Given the description of an element on the screen output the (x, y) to click on. 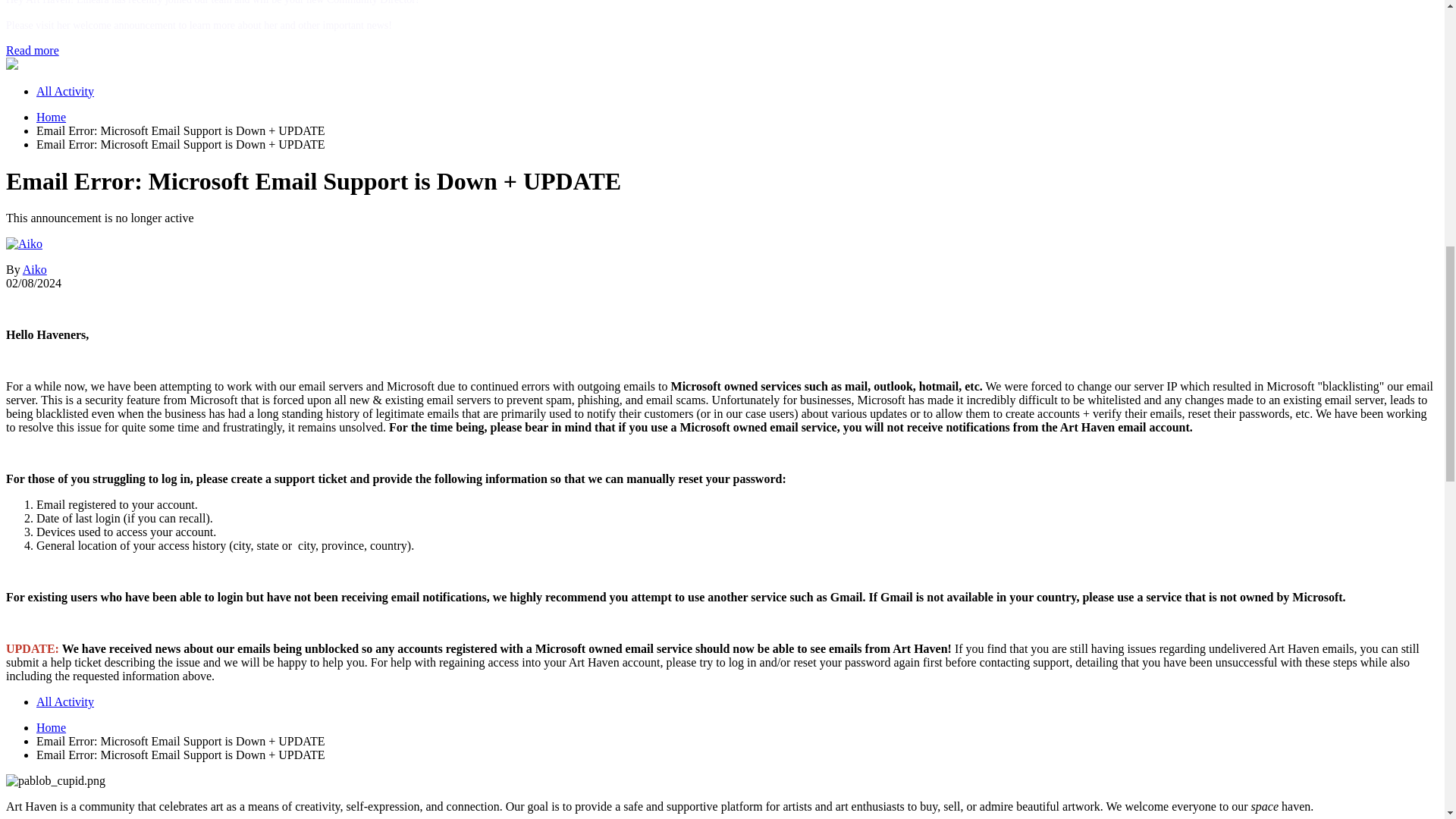
Home (50, 116)
All Activity (65, 701)
Aiko (34, 269)
Home (50, 727)
Read more (32, 50)
Home (50, 727)
Home (50, 116)
Go to Aiko's profile (34, 269)
All Activity (65, 91)
Go to Aiko's profile (23, 243)
